Given the description of an element on the screen output the (x, y) to click on. 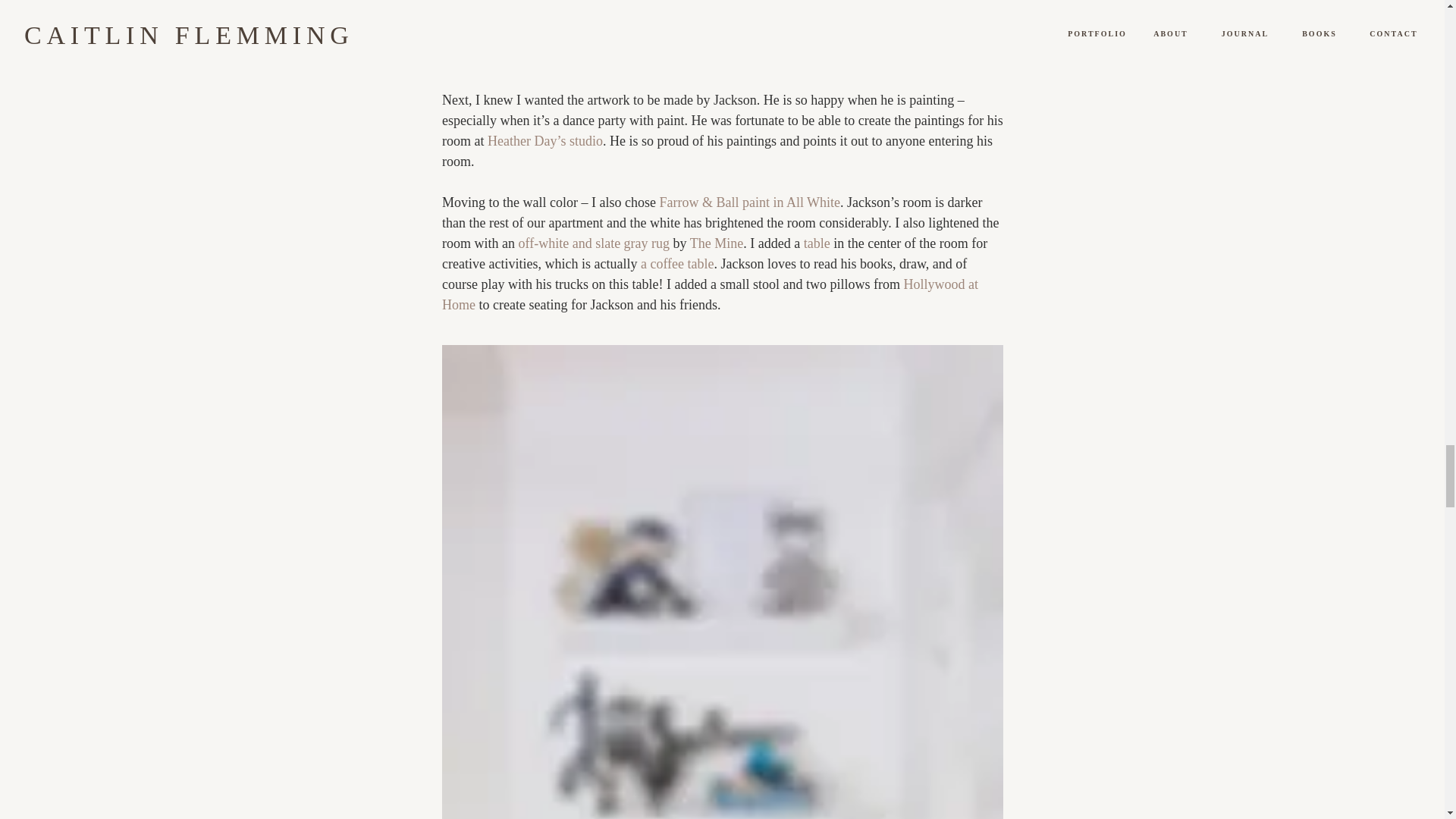
Hollywood at Home (710, 294)
table (816, 242)
The Mine (715, 242)
a coffee table (676, 263)
off-white and slate gray rug (593, 242)
